Given the description of an element on the screen output the (x, y) to click on. 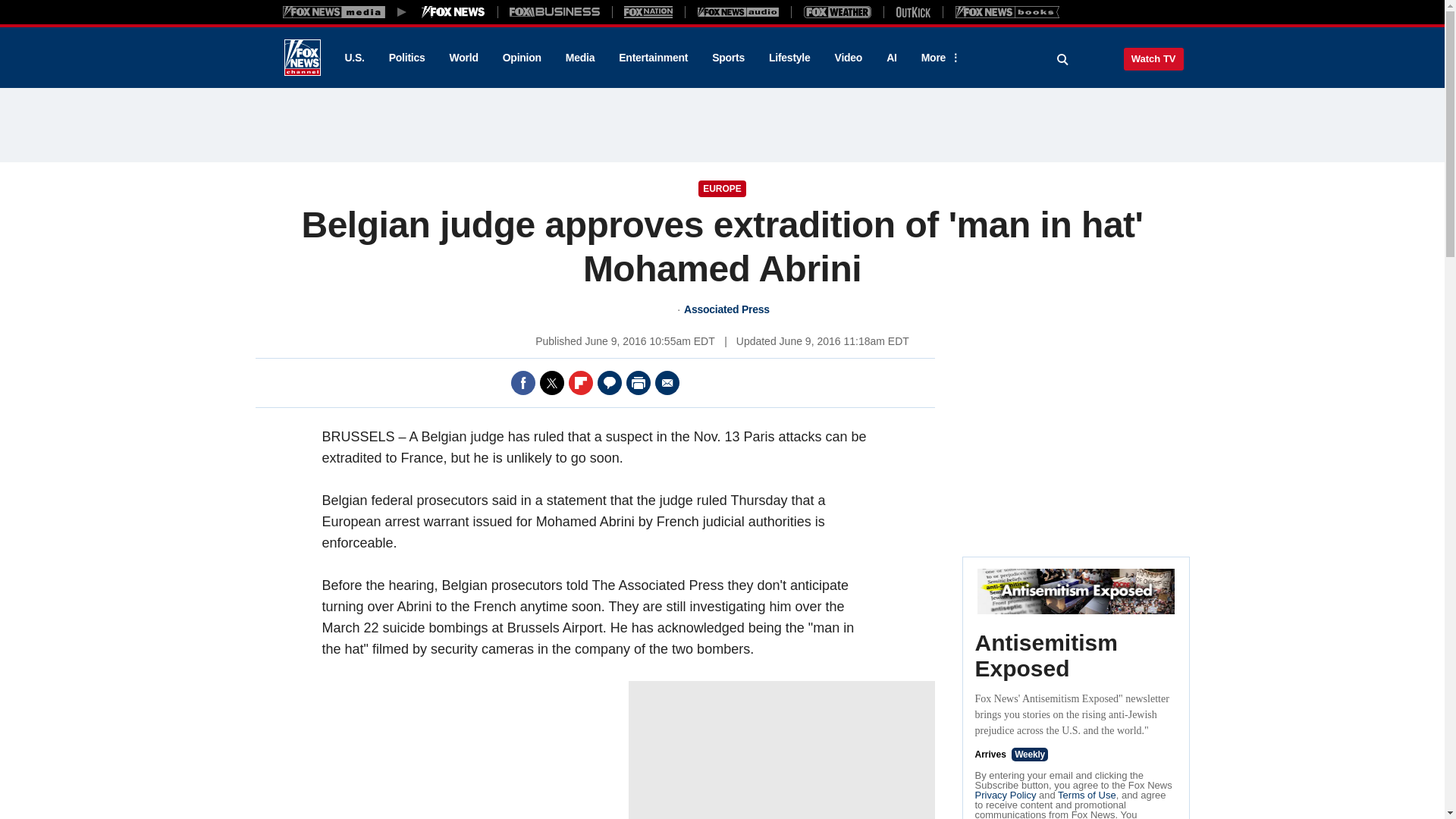
U.S. (353, 57)
Video (848, 57)
Fox Weather (836, 11)
Entertainment (653, 57)
Sports (728, 57)
Fox News Media (453, 11)
Watch TV (1153, 58)
More (938, 57)
World (464, 57)
Fox News (301, 57)
Fox Business (554, 11)
Fox Nation (648, 11)
Media (580, 57)
Outkick (912, 11)
AI (891, 57)
